Given the description of an element on the screen output the (x, y) to click on. 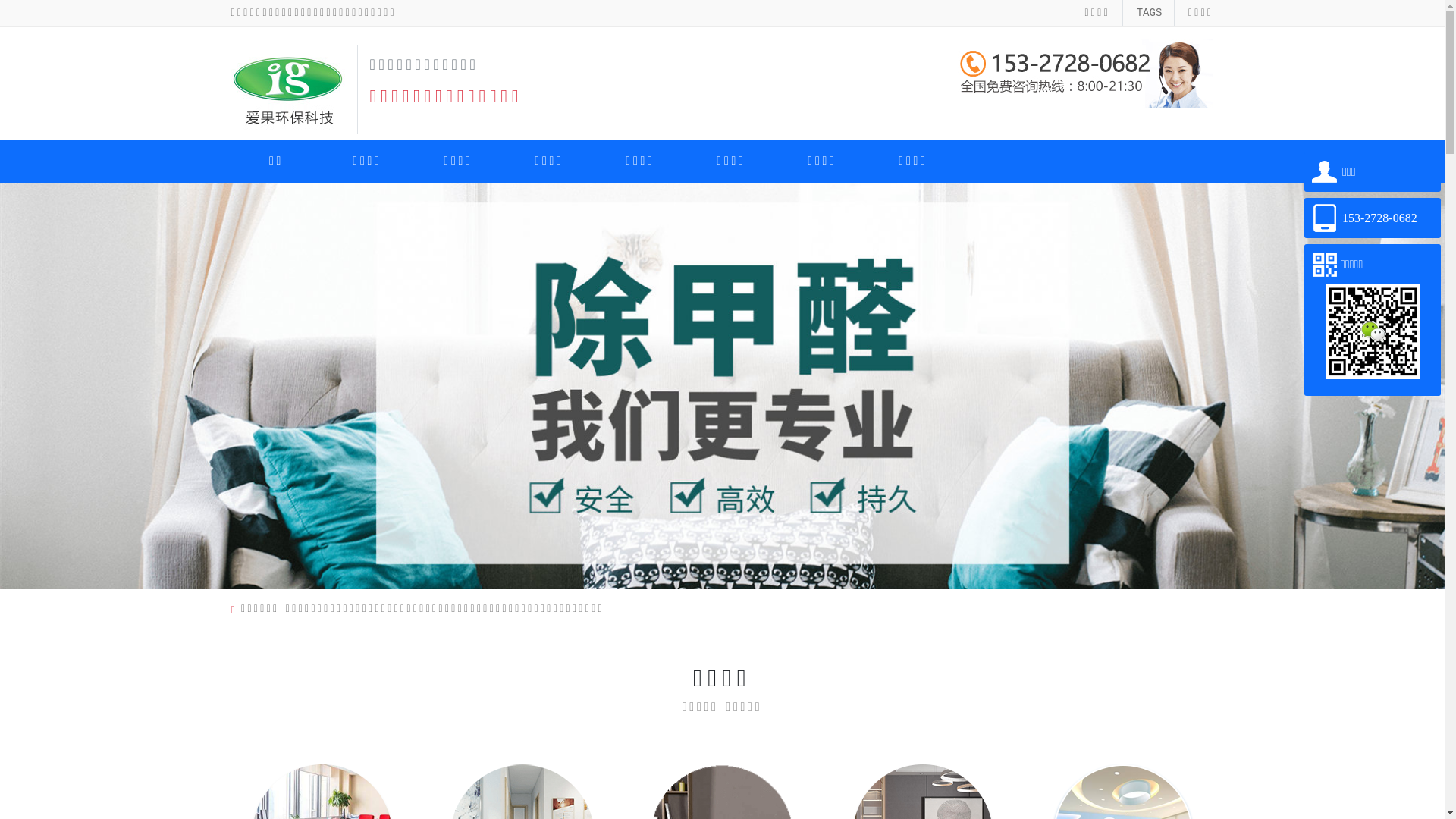
TAGS Element type: text (1149, 12)
